Given the description of an element on the screen output the (x, y) to click on. 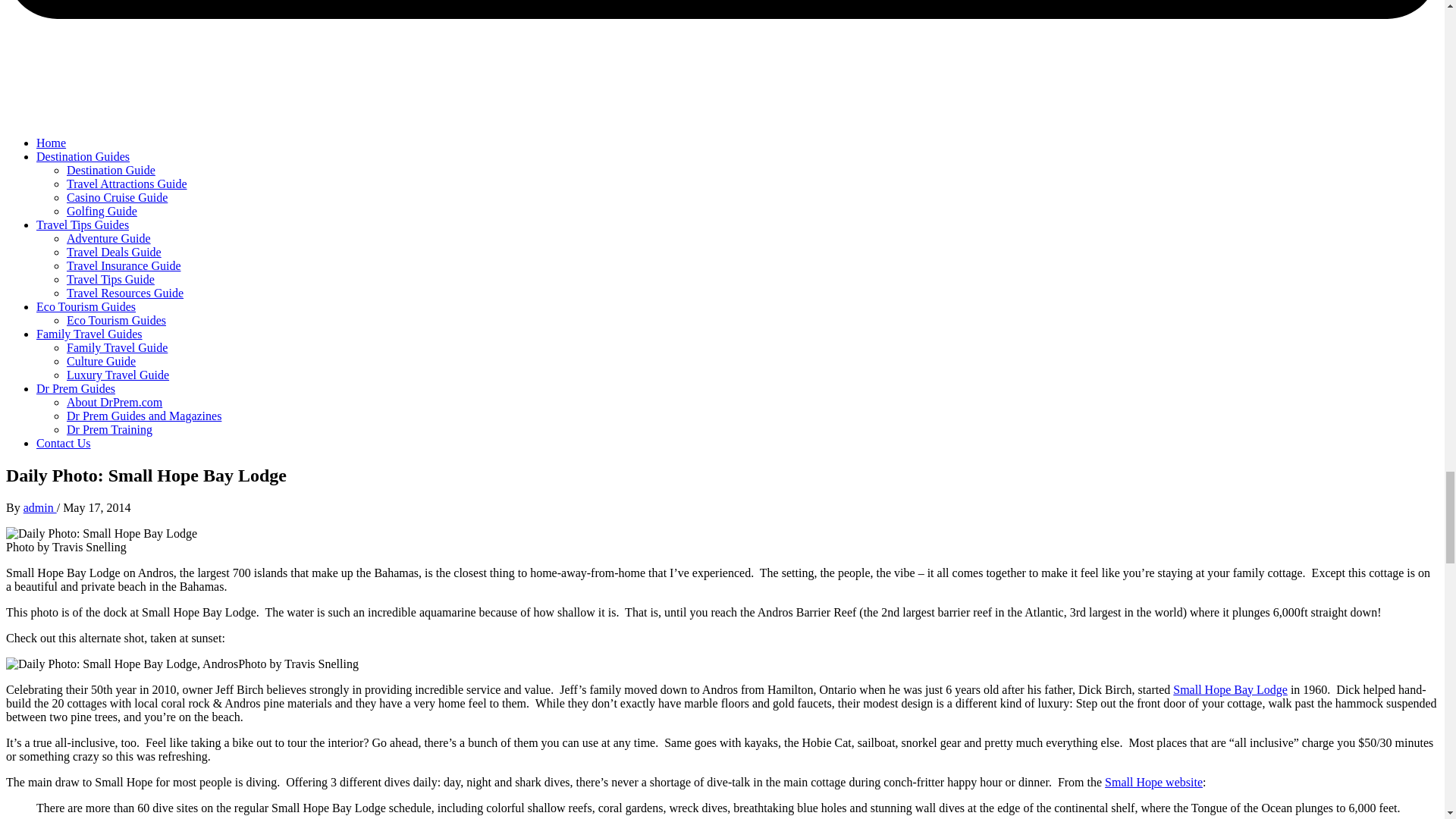
Daily Photo: Small Hope Bay Lodge, Andros (121, 663)
Daily Photo: Small Hope Bay Lodge (100, 532)
View all posts by admin (39, 506)
